Given the description of an element on the screen output the (x, y) to click on. 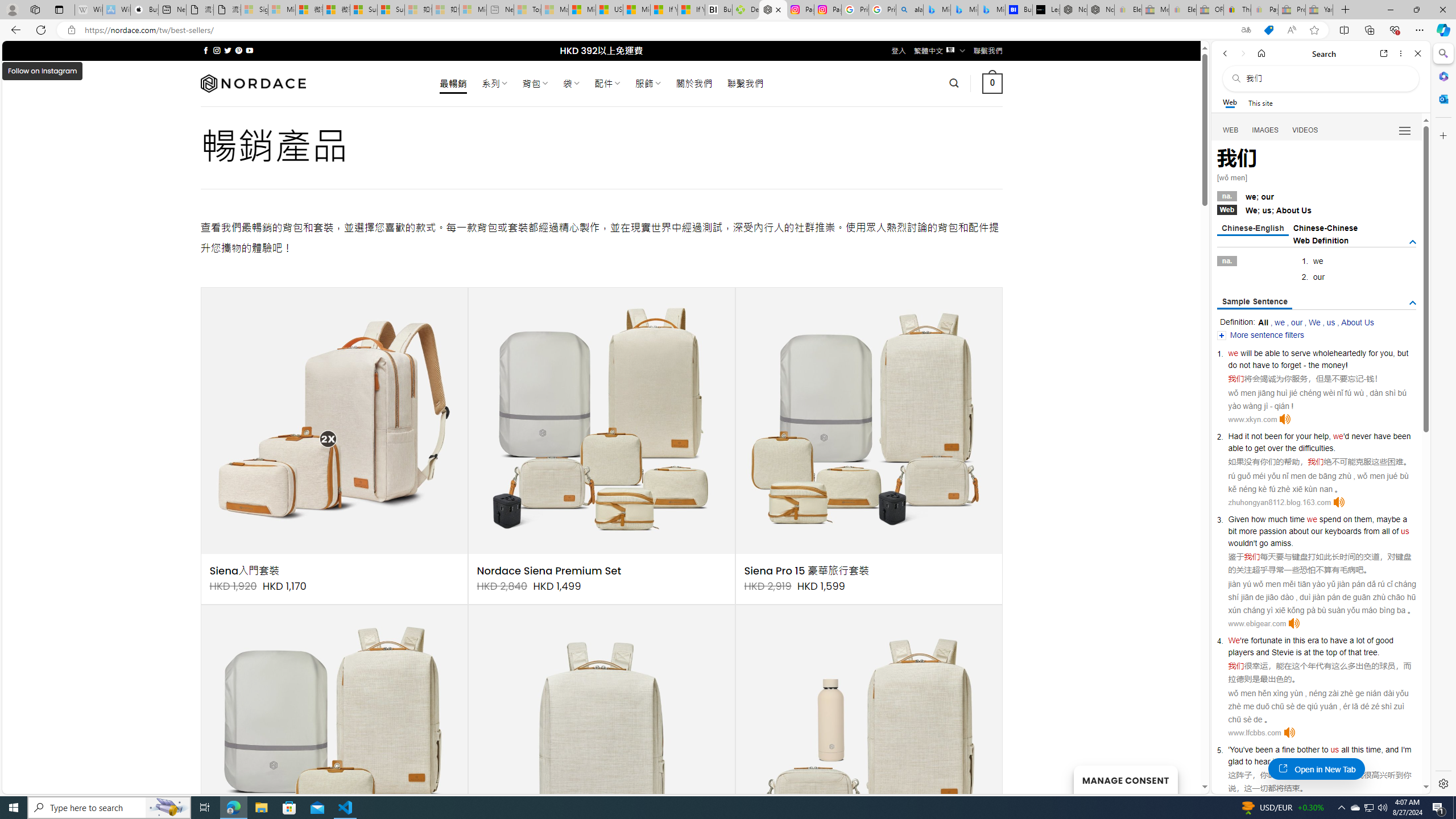
help (1321, 435)
players (1240, 651)
serve (1300, 352)
Payments Terms of Use | eBay.com - Sleeping (1264, 9)
will (1246, 352)
' (1228, 749)
